Given the description of an element on the screen output the (x, y) to click on. 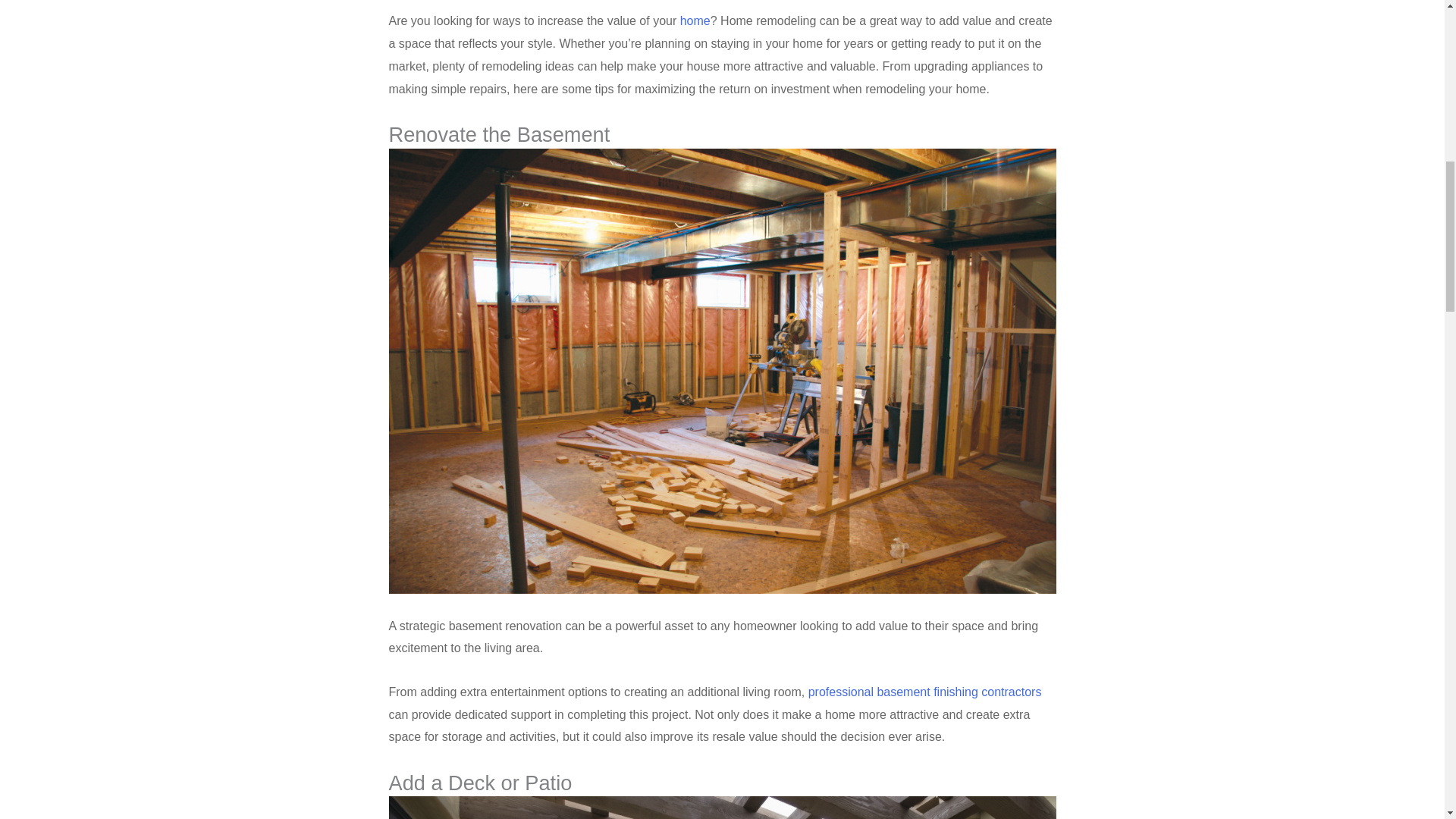
home (694, 20)
Patio (721, 807)
professional basement finishing contractors (925, 691)
